Given the description of an element on the screen output the (x, y) to click on. 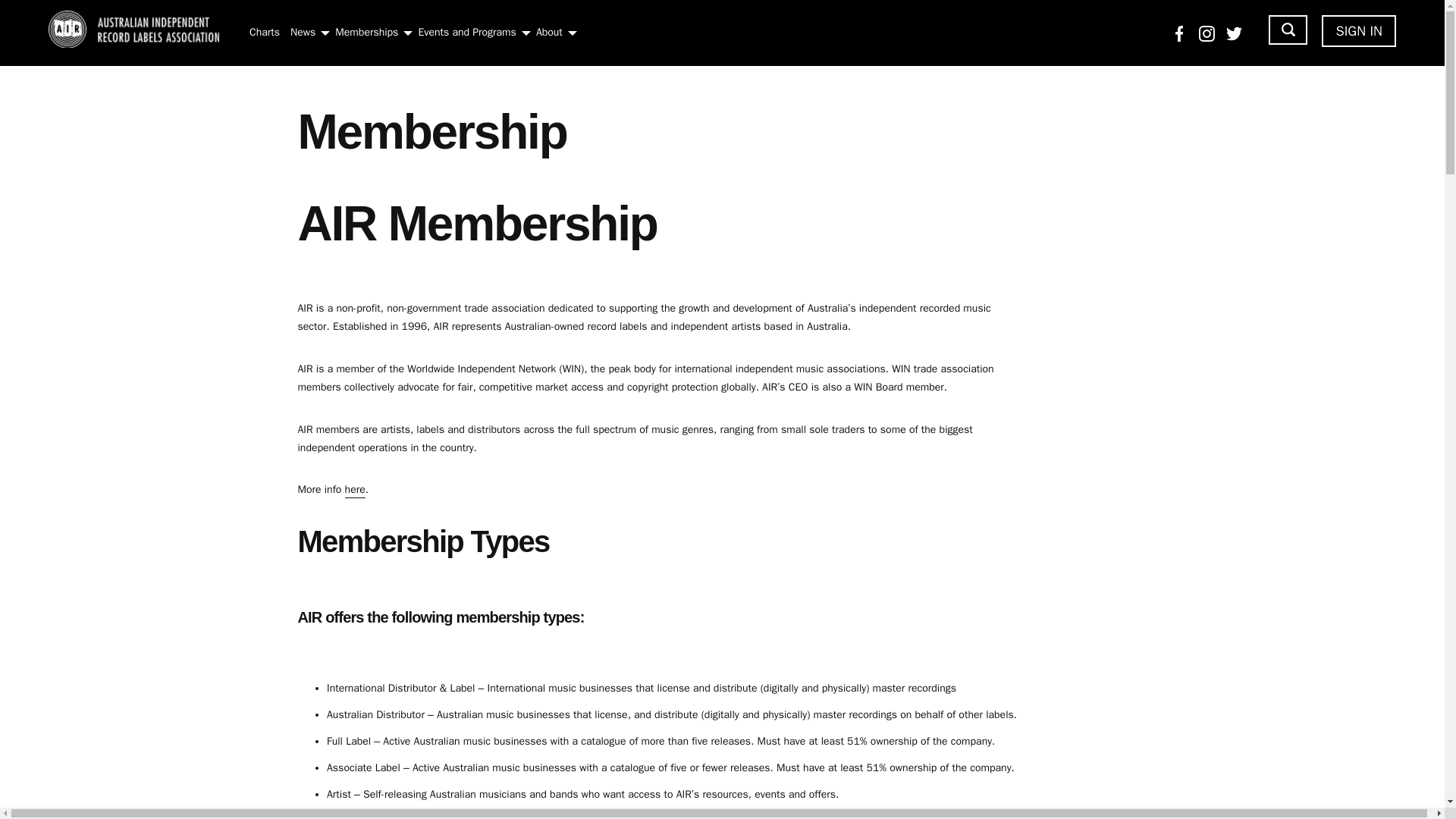
SIGN IN (1359, 30)
News (302, 32)
Events and Programs (466, 32)
About (548, 32)
Charts (263, 32)
Memberships (365, 32)
here (523, 817)
here (355, 489)
